Given the description of an element on the screen output the (x, y) to click on. 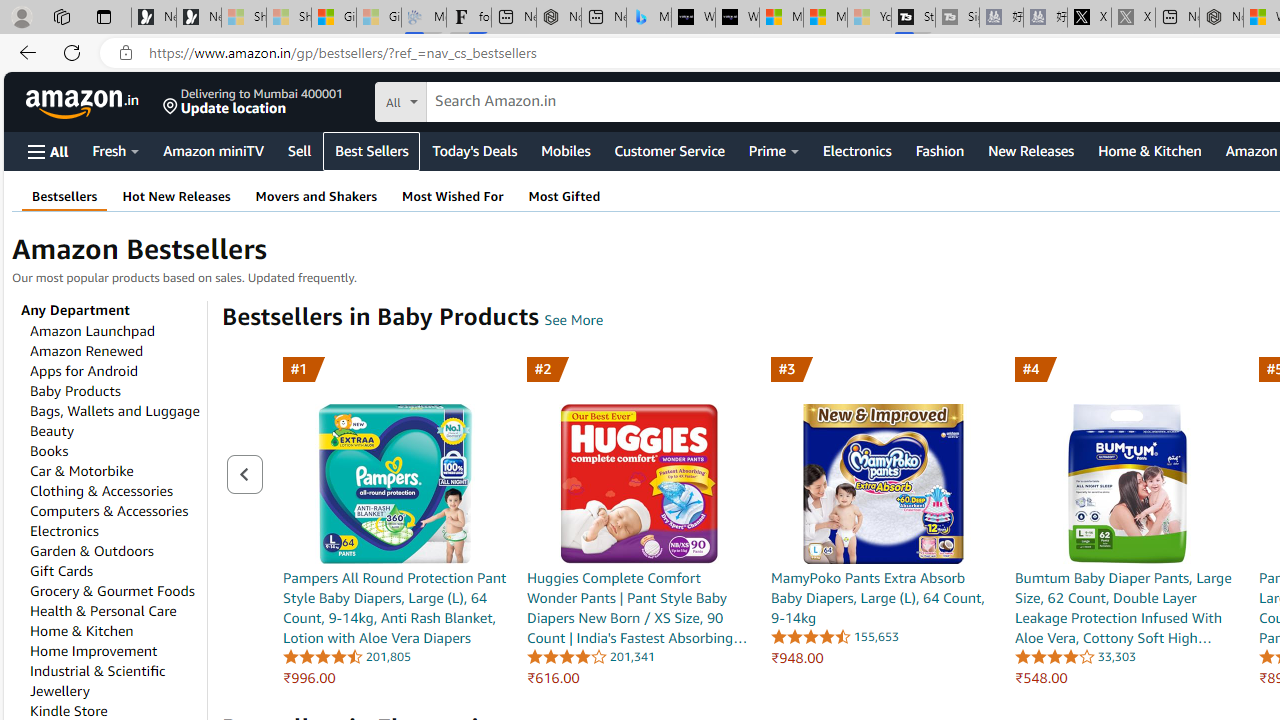
Delivering to Mumbai 400001 Update location (253, 101)
Movers and Shakers (315, 196)
Skip to main content (86, 100)
